Given the description of an element on the screen output the (x, y) to click on. 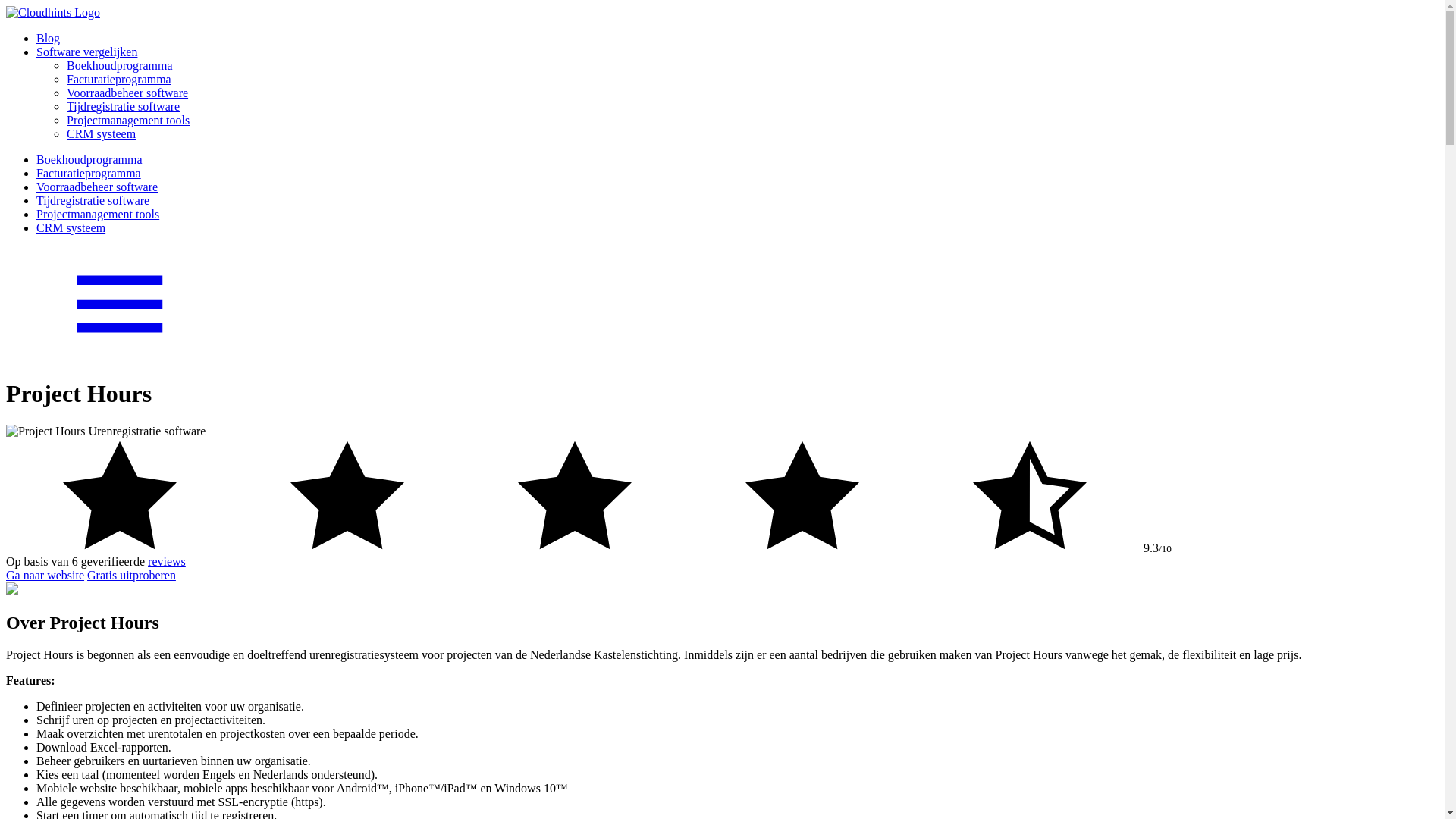
Blog Element type: text (47, 37)
Boekhoudprogramma Element type: text (119, 65)
Boekhoudprogramma Element type: text (89, 159)
Ga naar website Element type: text (45, 574)
Software vergelijken Element type: text (86, 51)
Gratis uitproberen Element type: text (131, 574)
Projectmanagement tools Element type: text (97, 213)
Tijdregistratie software Element type: text (122, 106)
Facturatieprogramma Element type: text (88, 172)
Cijfer 9.3 Element type: hover (574, 547)
Tijdregistratie software Element type: text (92, 200)
reviews Element type: text (166, 561)
CRM systeem Element type: text (70, 227)
Projectmanagement tools Element type: text (127, 119)
Facturatieprogramma Element type: text (118, 78)
CRM systeem Element type: text (100, 133)
Voorraadbeheer software Element type: text (127, 92)
9.3/10 Element type: text (722, 496)
Voorraadbeheer software Element type: text (96, 186)
Project Hours Urenregistratie software Element type: hover (105, 431)
